Given the description of an element on the screen output the (x, y) to click on. 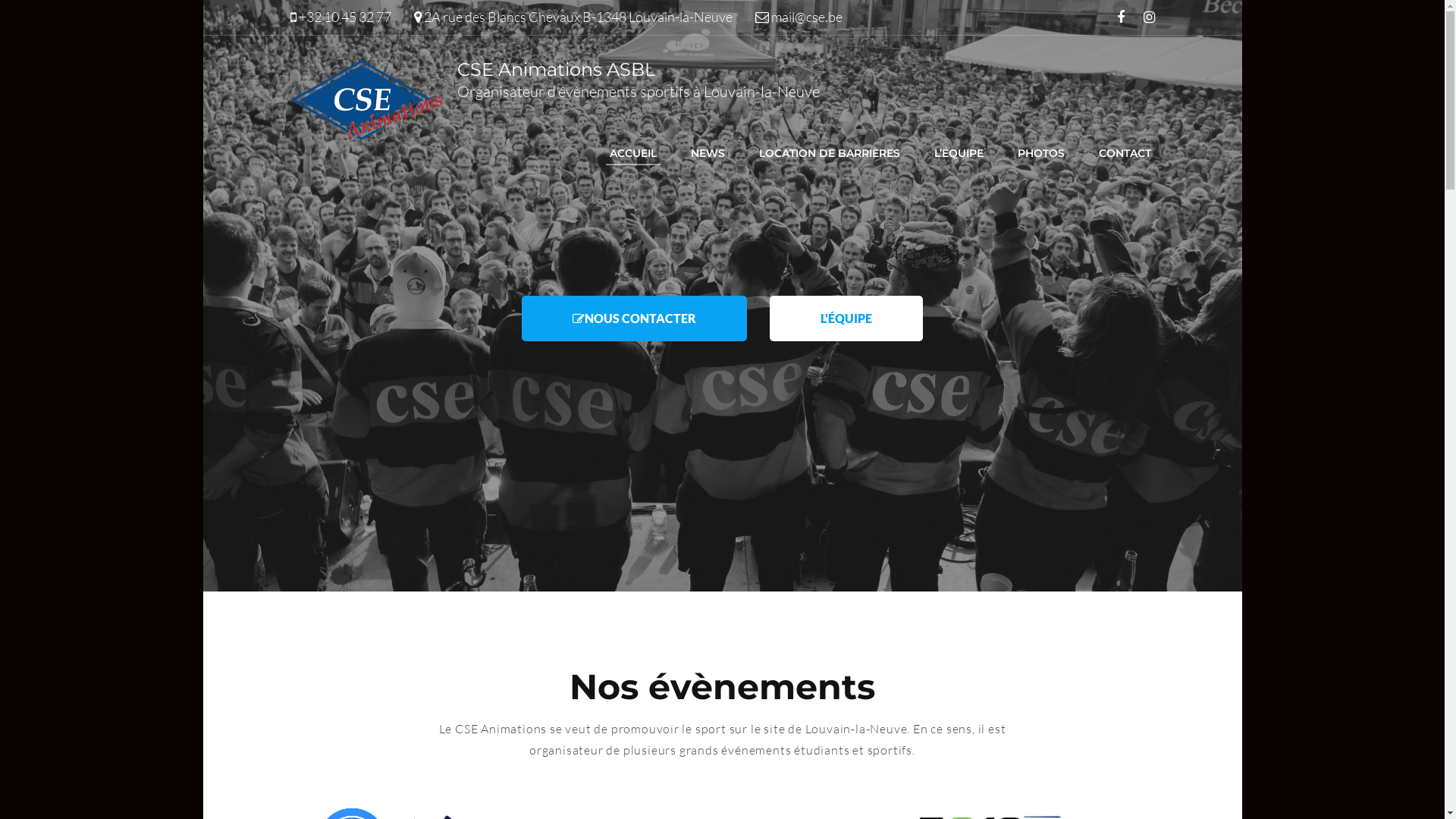
CONTACT Element type: text (1124, 152)
mail@cse.be Element type: text (805, 16)
NOUS CONTACTER Element type: text (633, 318)
PHOTOS Element type: text (1040, 152)
NEWS Element type: text (707, 152)
+32 10 45 32 77 Element type: text (344, 16)
ACCUEIL Element type: text (632, 152)
CSE Animations ASBL Element type: text (555, 69)
